Given the description of an element on the screen output the (x, y) to click on. 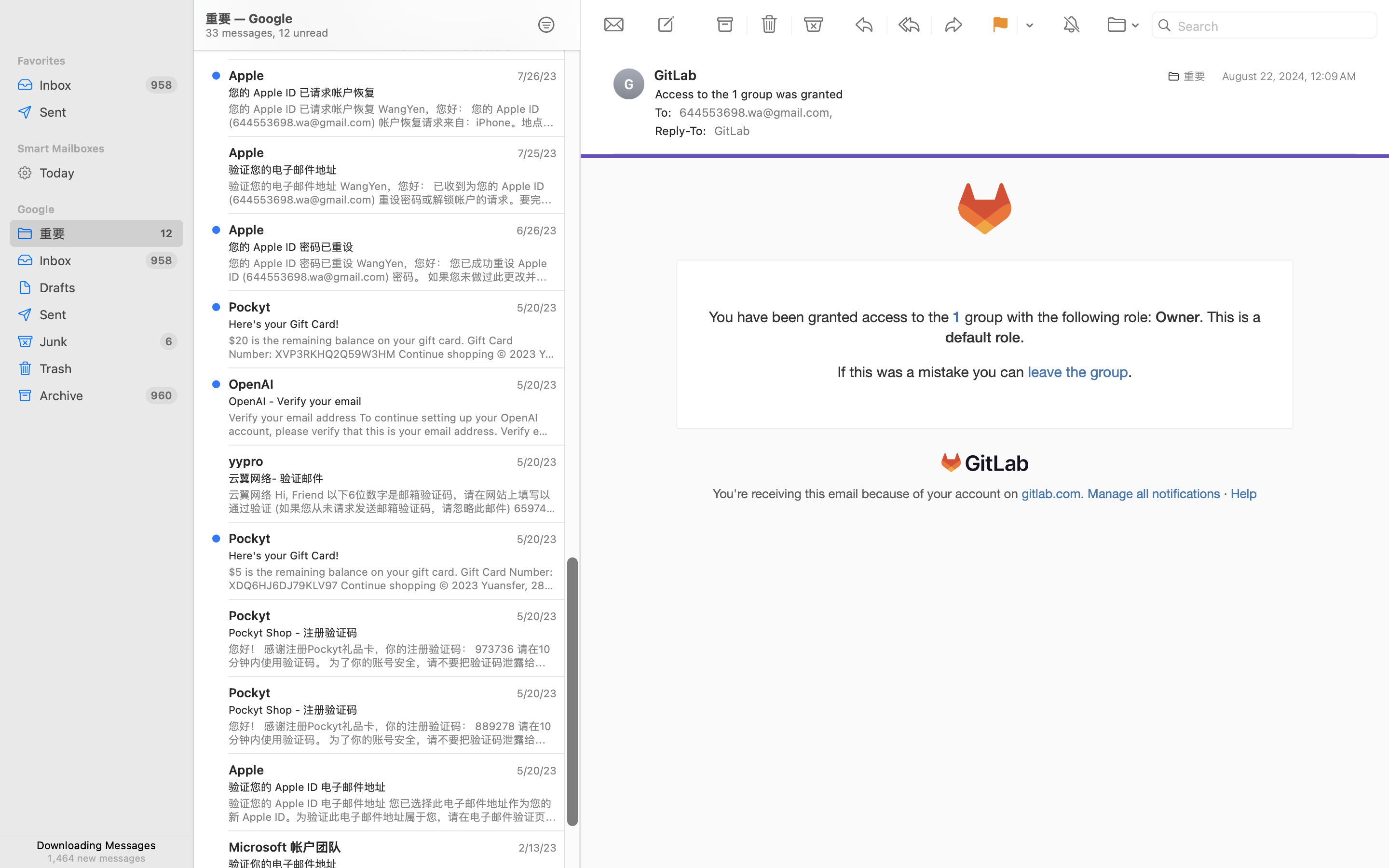
重要 Element type: AXTextField (93, 233)
$20 is the remaining balance on your gift card. Gift Card Number: XVP3RKHQ2Q59W3HM Continue shopping © 2023 Yuansfer, 28 Liberty St 6th Floor, New York, NY United States 10005 Element type: AXStaticText (392, 346)
云翼网络- 验证邮件 Element type: AXStaticText (388, 478)
Verify your email address To continue setting up your OpenAI account, please verify that this is your email address. Verify email address This link will expire in 5 days. If you did not make this request, please disregard this email. For help, contact us through our Help center. Element type: AXStaticText (392, 423)
yypro Element type: AXStaticText (245, 460)
